Given the description of an element on the screen output the (x, y) to click on. 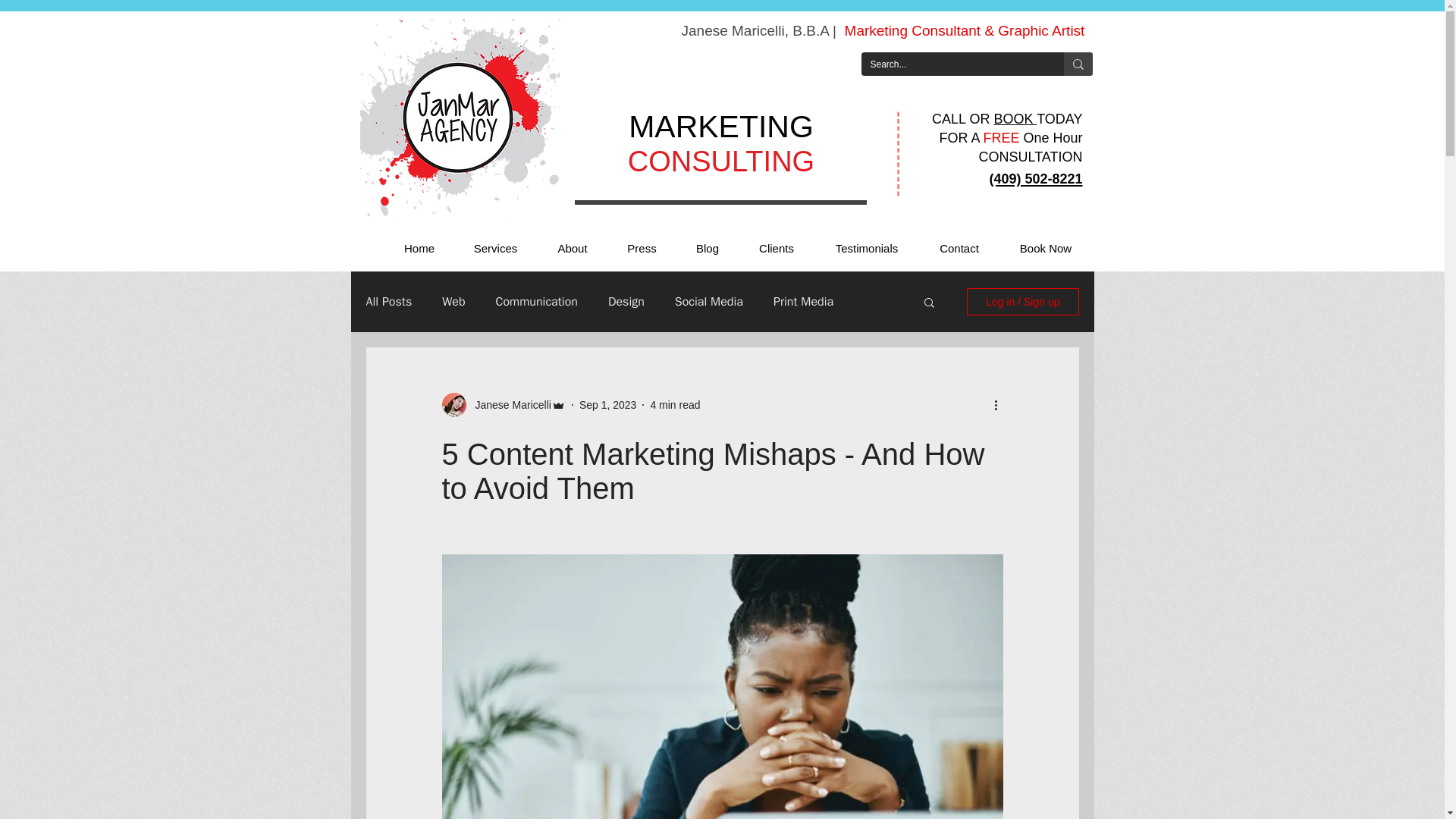
Sep 1, 2023 (608, 404)
Blog (708, 247)
MARKETING (720, 126)
Contact (958, 247)
Social Media (708, 302)
About (572, 247)
CONSULTING (720, 160)
Design (626, 302)
Press (642, 247)
Home (419, 247)
Services (494, 247)
Communication (537, 302)
Clients (775, 247)
Web (453, 302)
Janese Maricelli (507, 405)
